Given the description of an element on the screen output the (x, y) to click on. 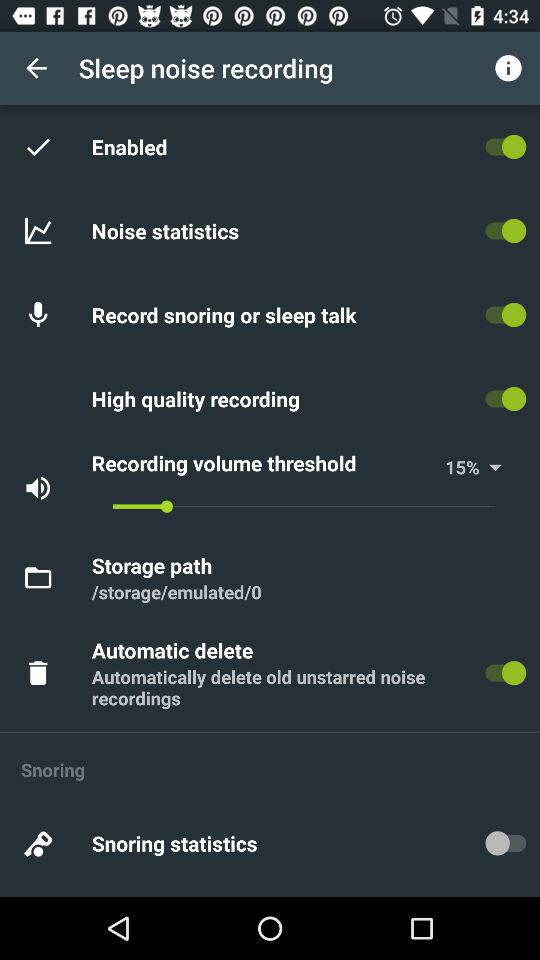
open icon next to % icon (455, 466)
